Given the description of an element on the screen output the (x, y) to click on. 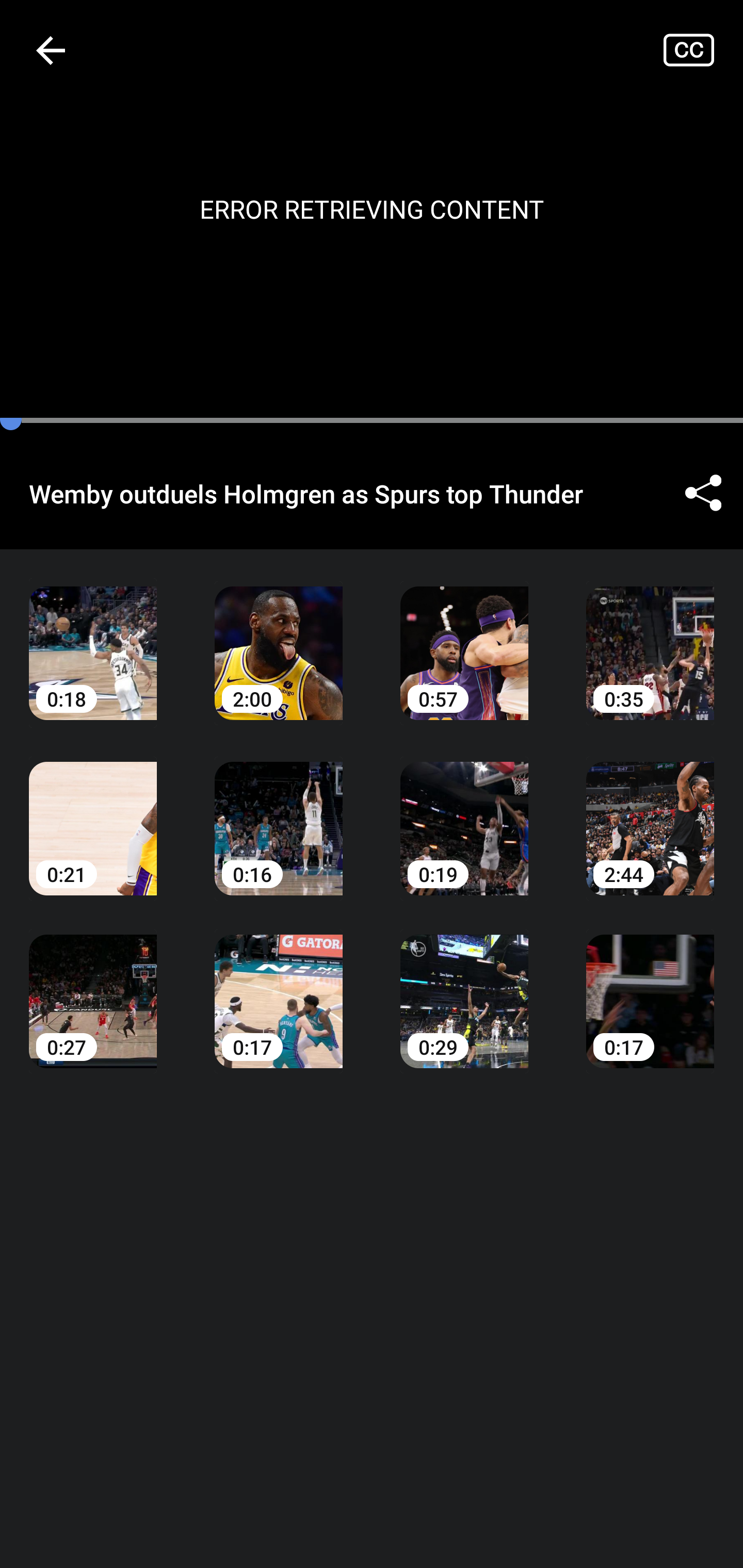
Navigate up (50, 50)
Closed captions  (703, 49)
Share © (703, 493)
0:18 (92, 637)
2:00 (278, 637)
0:57 (464, 637)
0:35 (650, 637)
0:21 (92, 813)
0:16 (278, 813)
0:19 (464, 813)
2:44 (650, 813)
0:27 (92, 987)
0:17 (278, 987)
0:29 (464, 987)
0:17 (650, 987)
